Given the description of an element on the screen output the (x, y) to click on. 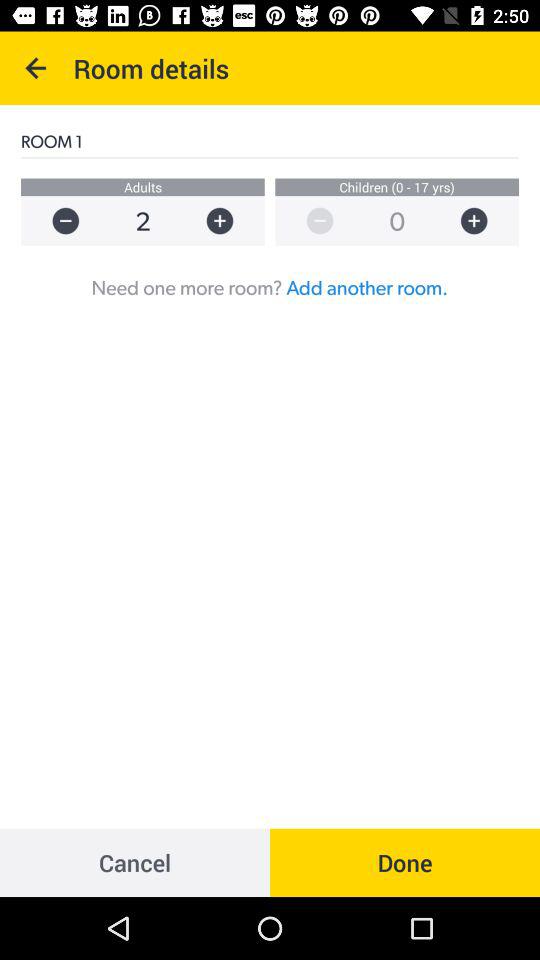
select the add another room. item (367, 287)
